Given the description of an element on the screen output the (x, y) to click on. 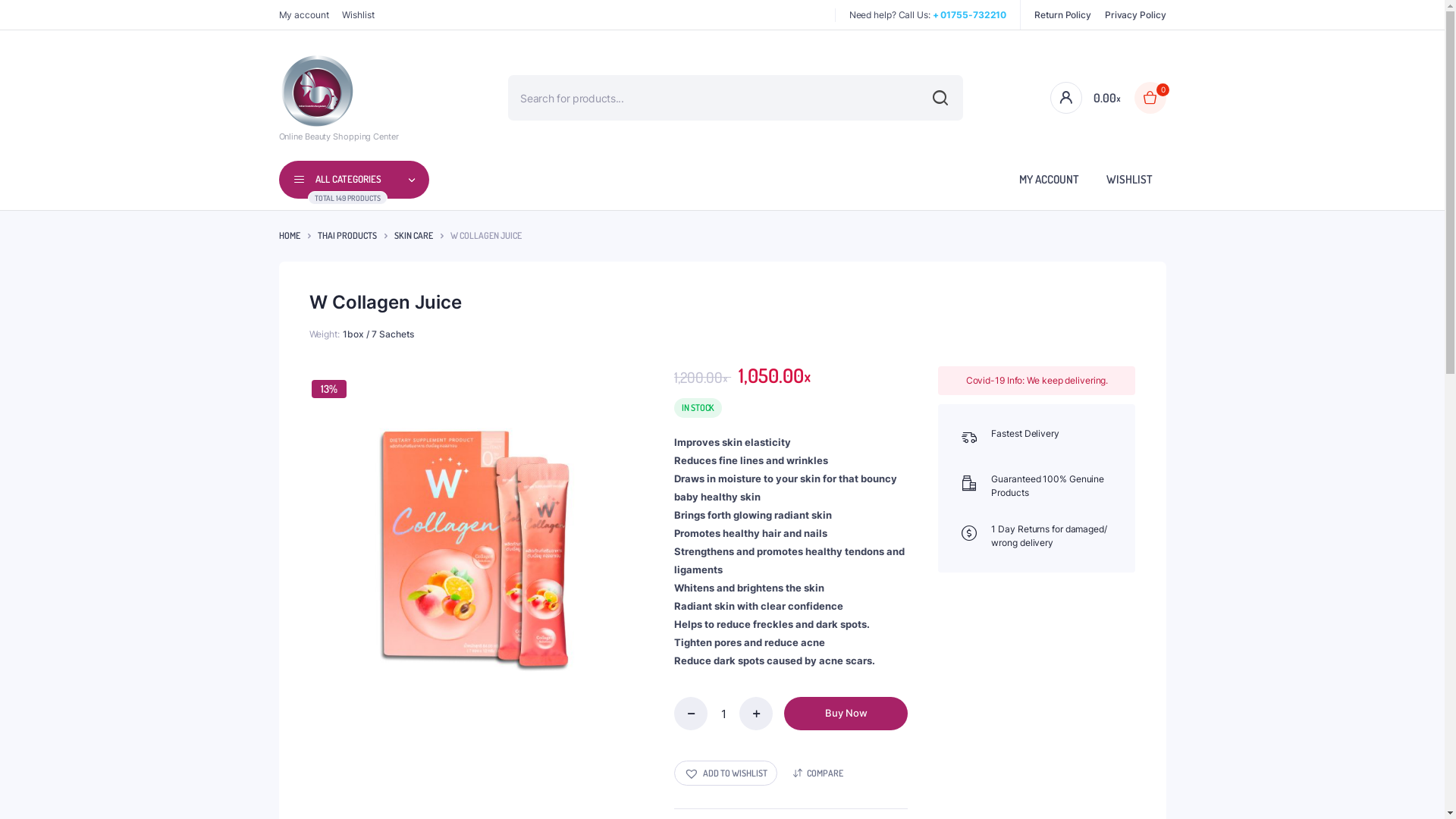
COMPARE Element type: text (818, 773)
HOME Element type: text (289, 235)
Return Policy Element type: text (1062, 14)
THAI PRODUCTS Element type: text (346, 235)
SKIN CARE Element type: text (413, 235)
WISHLIST Element type: text (1128, 178)
ALL CATEGORIES
TOTAL 149 PRODUCTS Element type: text (354, 179)
Qty Element type: hover (723, 713)
My account Element type: text (304, 14)
Buy Now Element type: text (845, 713)
Online Beauty Shopping Center Element type: text (338, 98)
Privacy Policy Element type: text (1135, 14)
Wishlist Element type: text (357, 14)
W Collagen Element type: hover (474, 531)
ADD TO WISHLIST Element type: text (725, 772)
+ 01755-732210 Element type: text (969, 14)
MY ACCOUNT Element type: text (1048, 178)
